Given the description of an element on the screen output the (x, y) to click on. 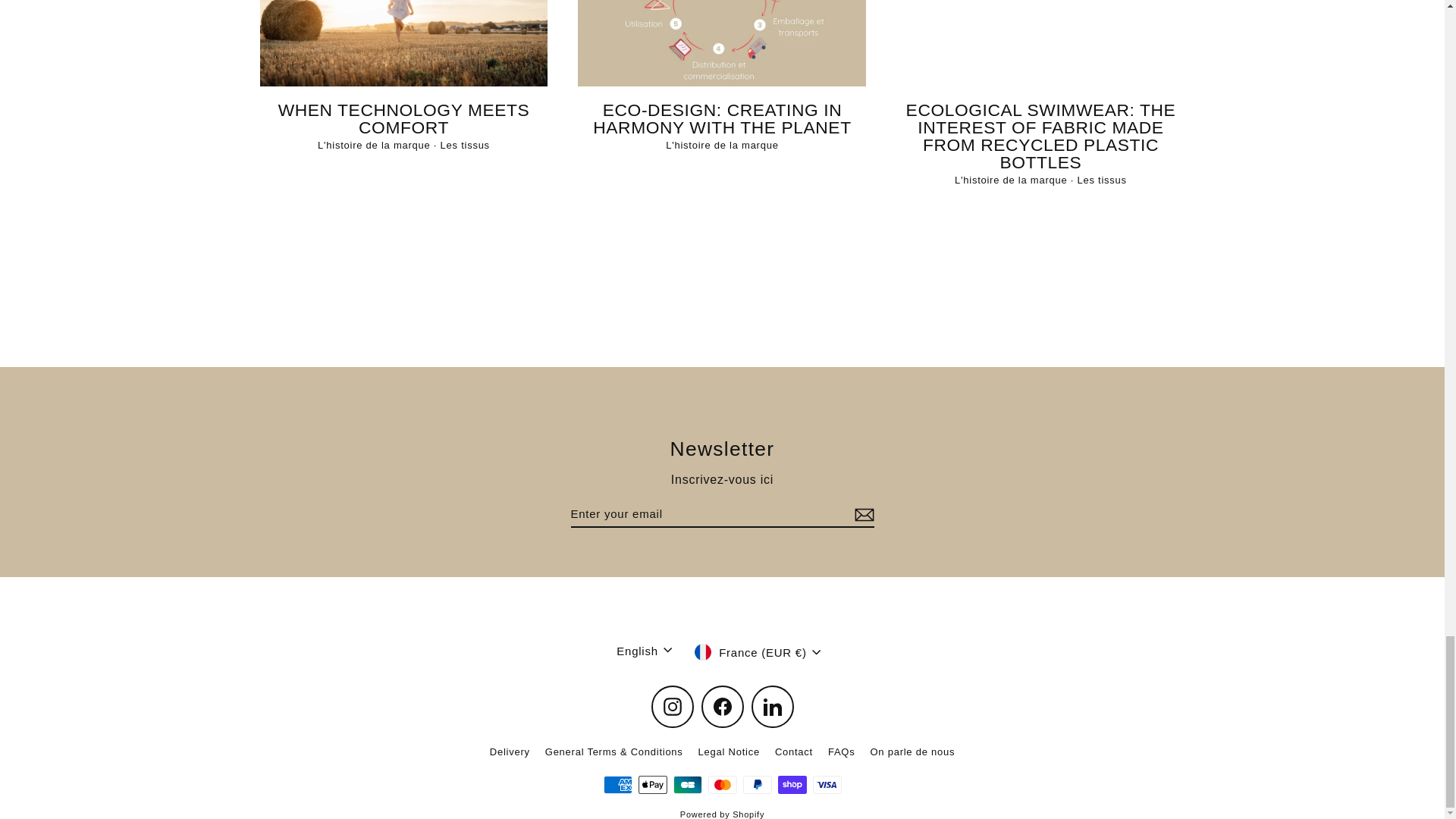
PayPal (756, 784)
Les Minettes en goguette  on Instagram (671, 706)
Les Minettes en goguette  on Facebook (721, 706)
Mastercard (721, 784)
Apple Pay (652, 784)
Les Minettes en goguette  on LinkedIn (772, 706)
Visa (826, 784)
Subscribe (860, 514)
American Express (617, 784)
Cartes Bancaires (686, 784)
